Given the description of an element on the screen output the (x, y) to click on. 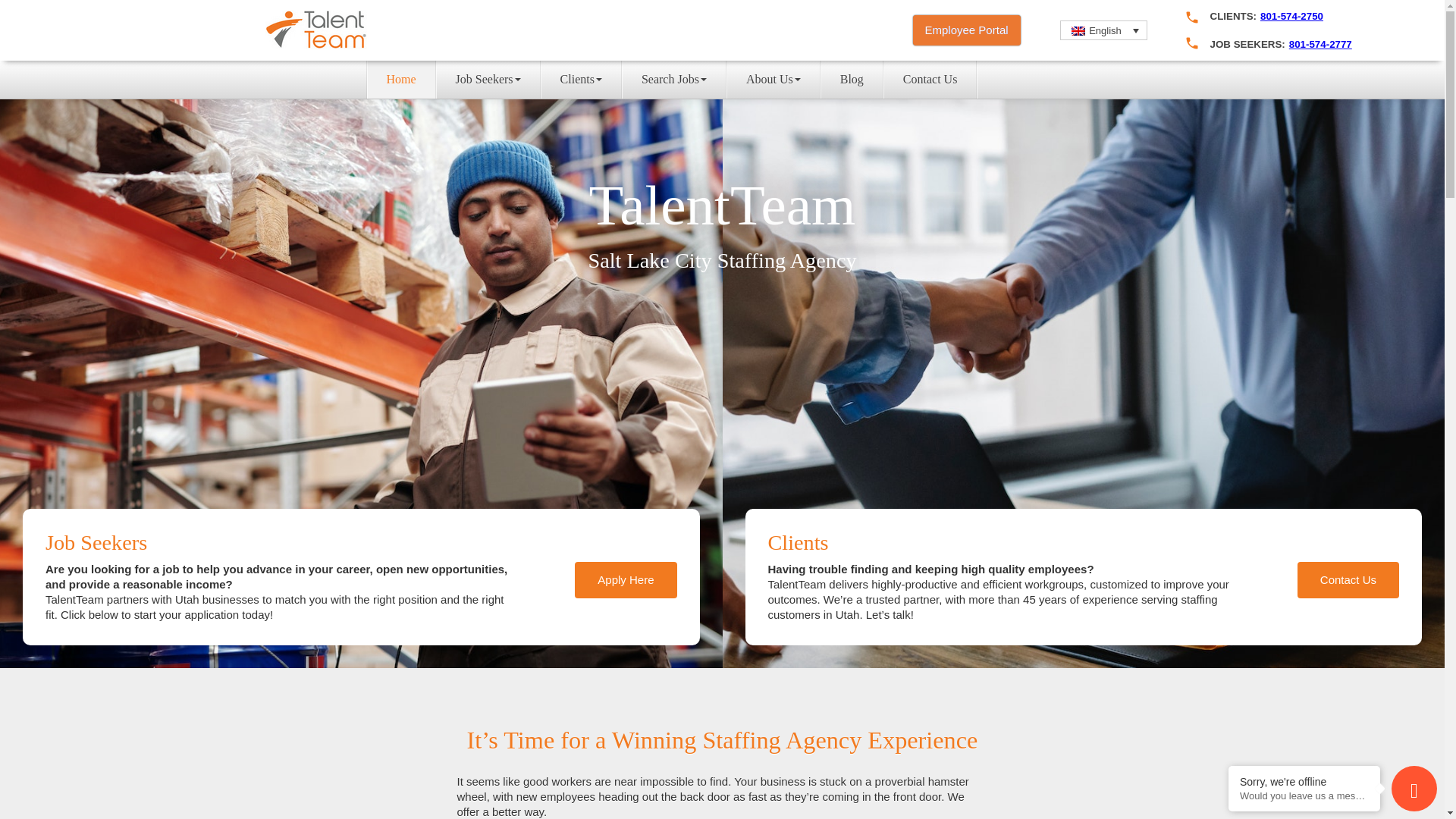
Job Seekers (487, 79)
Employee Portal (966, 30)
Search Jobs (673, 79)
About Us (773, 79)
801-574-2750 (1291, 16)
Home (400, 79)
Would you leave us a message? (1304, 795)
801-574-2777 (1320, 43)
Blog (852, 79)
Contact Us (929, 79)
English (1103, 30)
Sorry, we're offline (1304, 781)
Clients (580, 79)
